Given the description of an element on the screen output the (x, y) to click on. 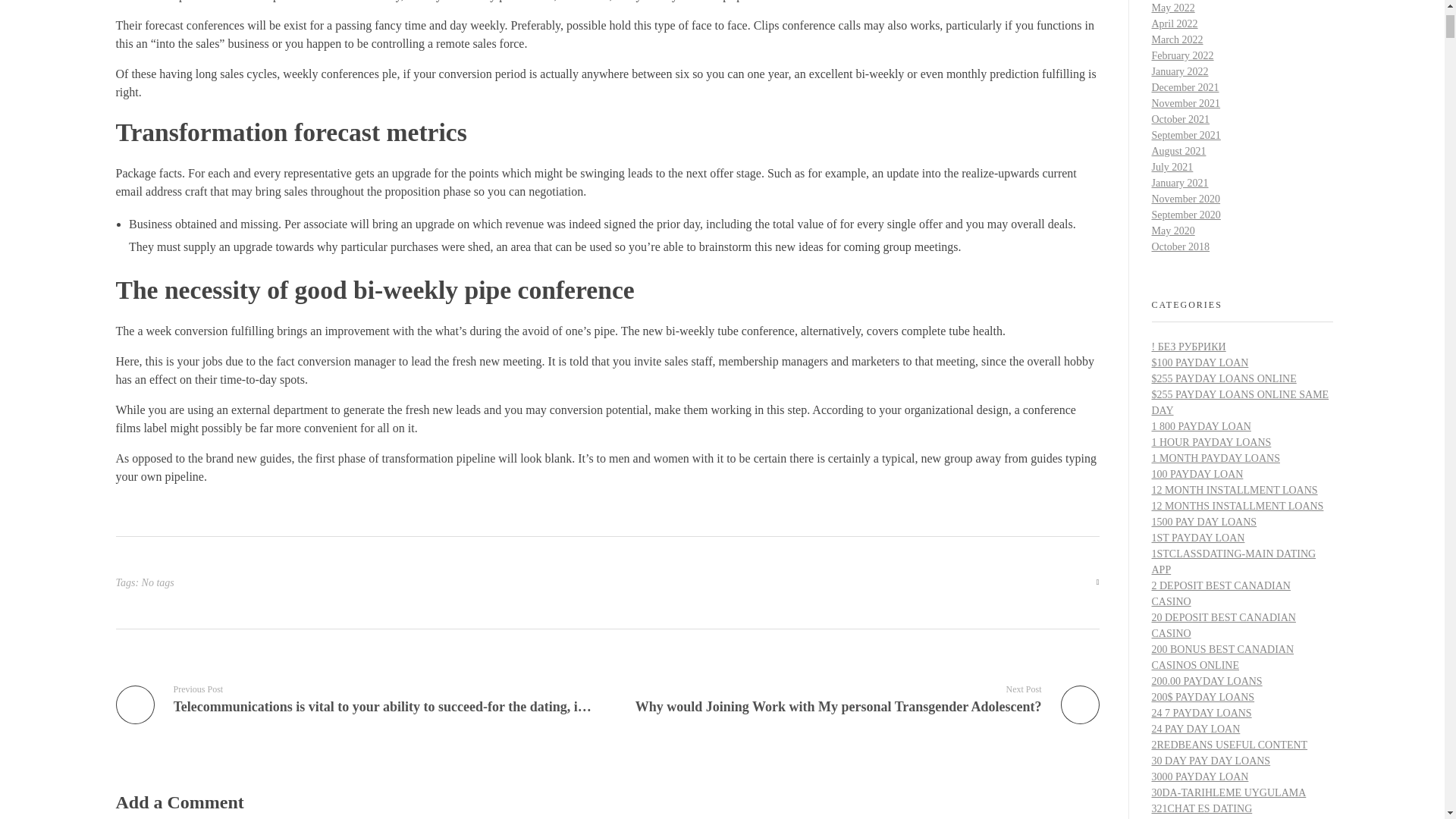
December 2021 (1184, 87)
November 2021 (1185, 102)
November 2020 (1185, 198)
September 2020 (1185, 214)
February 2022 (1181, 55)
August 2021 (1178, 151)
May 2022 (1172, 7)
March 2022 (1176, 39)
July 2021 (1171, 166)
